Given the description of an element on the screen output the (x, y) to click on. 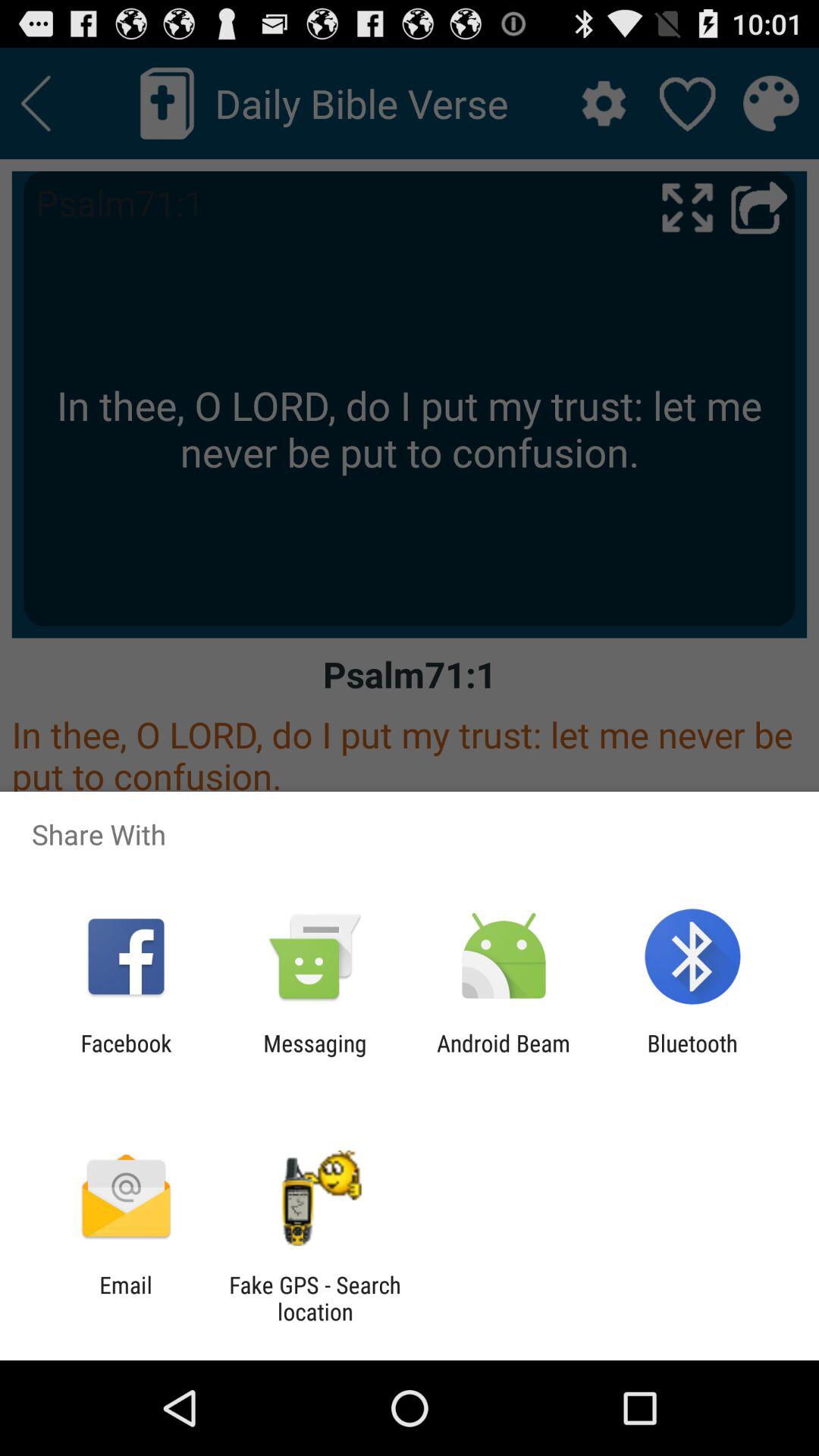
press app to the right of android beam item (692, 1056)
